Given the description of an element on the screen output the (x, y) to click on. 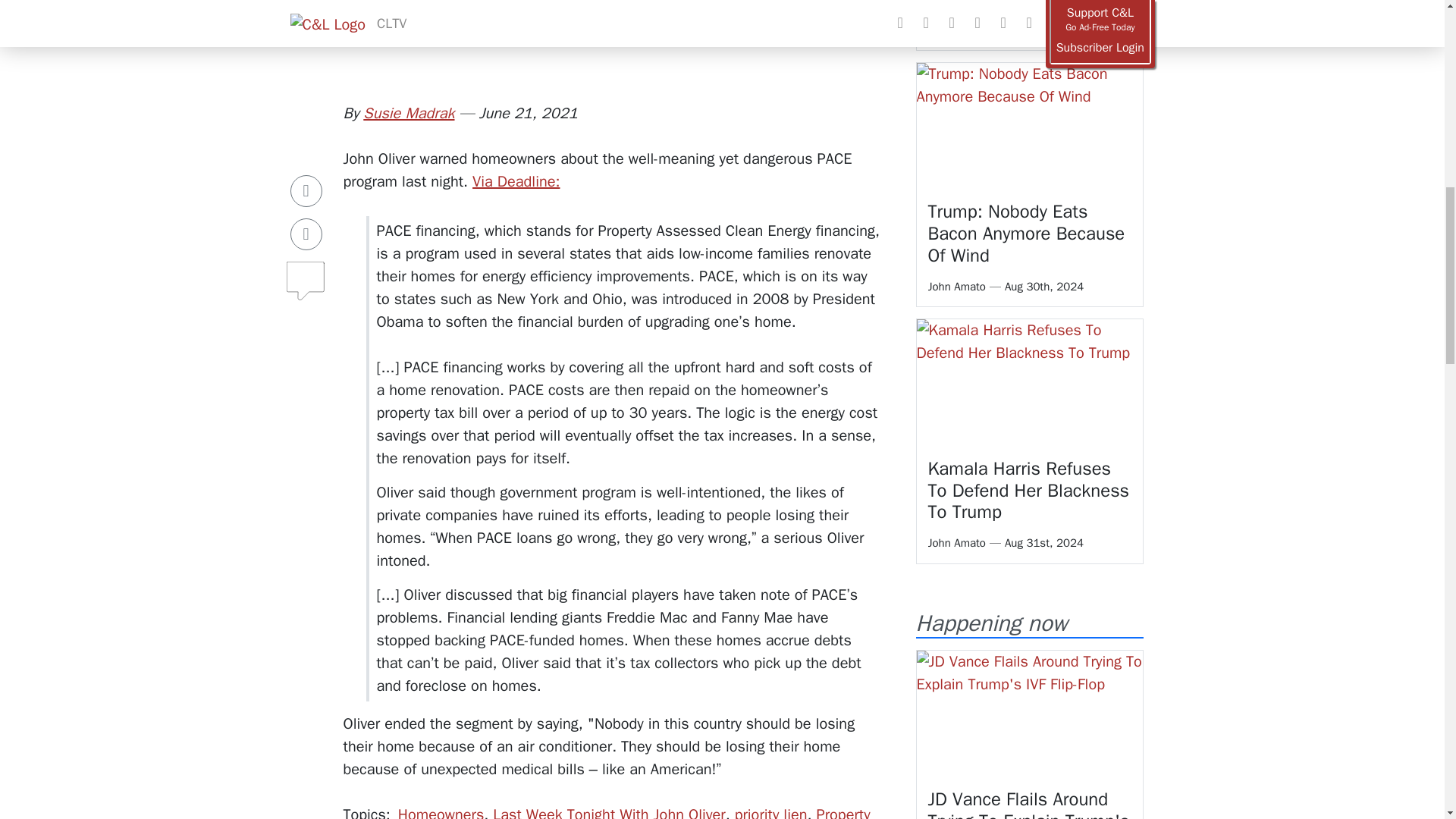
Share on Facebook (306, 141)
Property Assessed Clean Energy (633, 812)
Share on Twitter (306, 183)
Susie Madrak (408, 113)
Homeowners (440, 812)
priority lien (771, 812)
Via Deadline: (515, 180)
Comments (306, 224)
Last Week Tonight With John Oliver (609, 812)
Susie Madrak (408, 113)
